Given the description of an element on the screen output the (x, y) to click on. 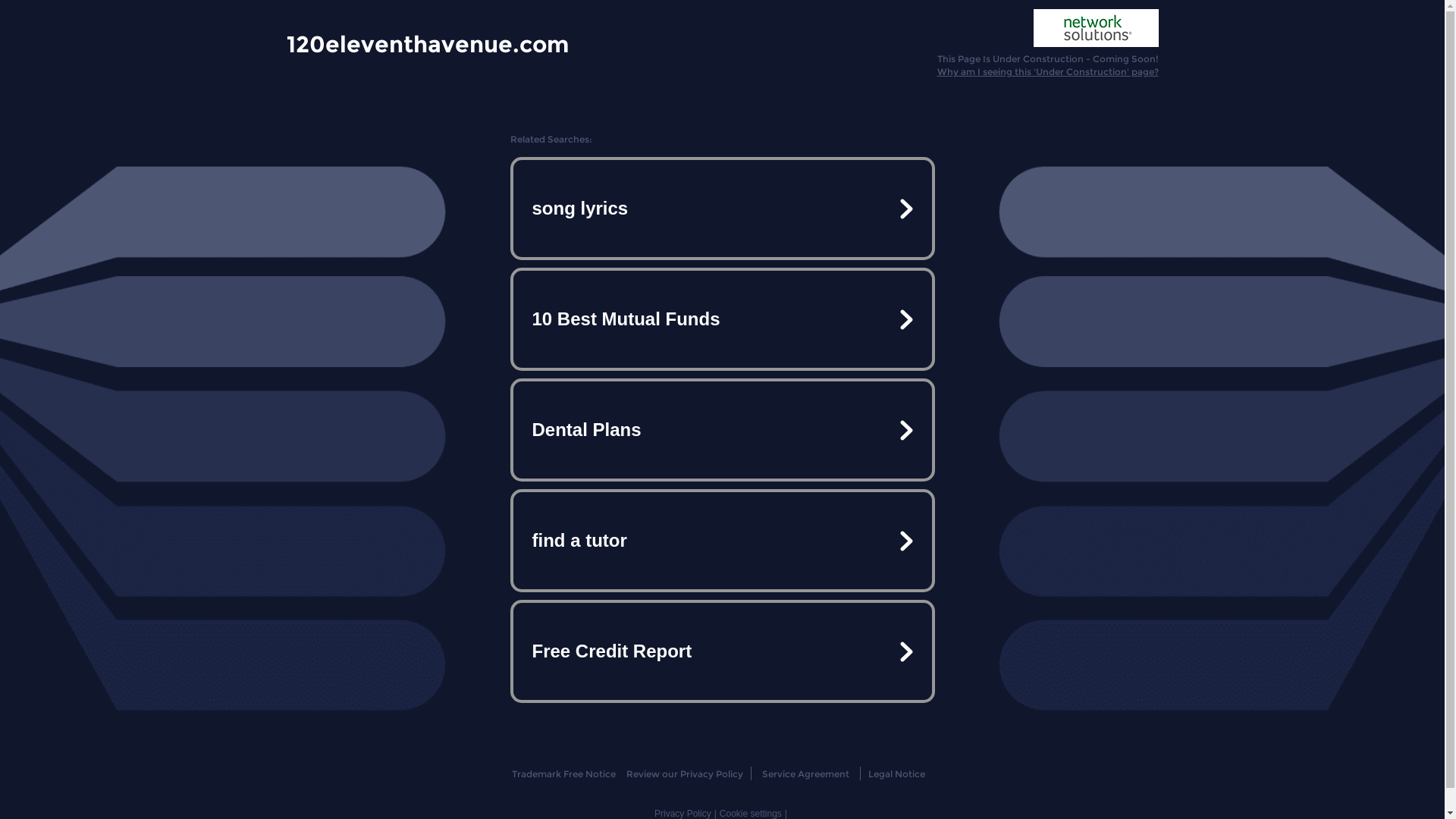
find a tutor Element type: text (721, 540)
120eleventhavenue.com Element type: text (427, 43)
Free Credit Report Element type: text (721, 650)
Dental Plans Element type: text (721, 429)
Service Agreement Element type: text (805, 773)
Legal Notice Element type: text (896, 773)
song lyrics Element type: text (721, 208)
Trademark Free Notice Element type: text (563, 773)
Why am I seeing this 'Under Construction' page? Element type: text (1047, 71)
10 Best Mutual Funds Element type: text (721, 318)
Review our Privacy Policy Element type: text (684, 773)
